Given the description of an element on the screen output the (x, y) to click on. 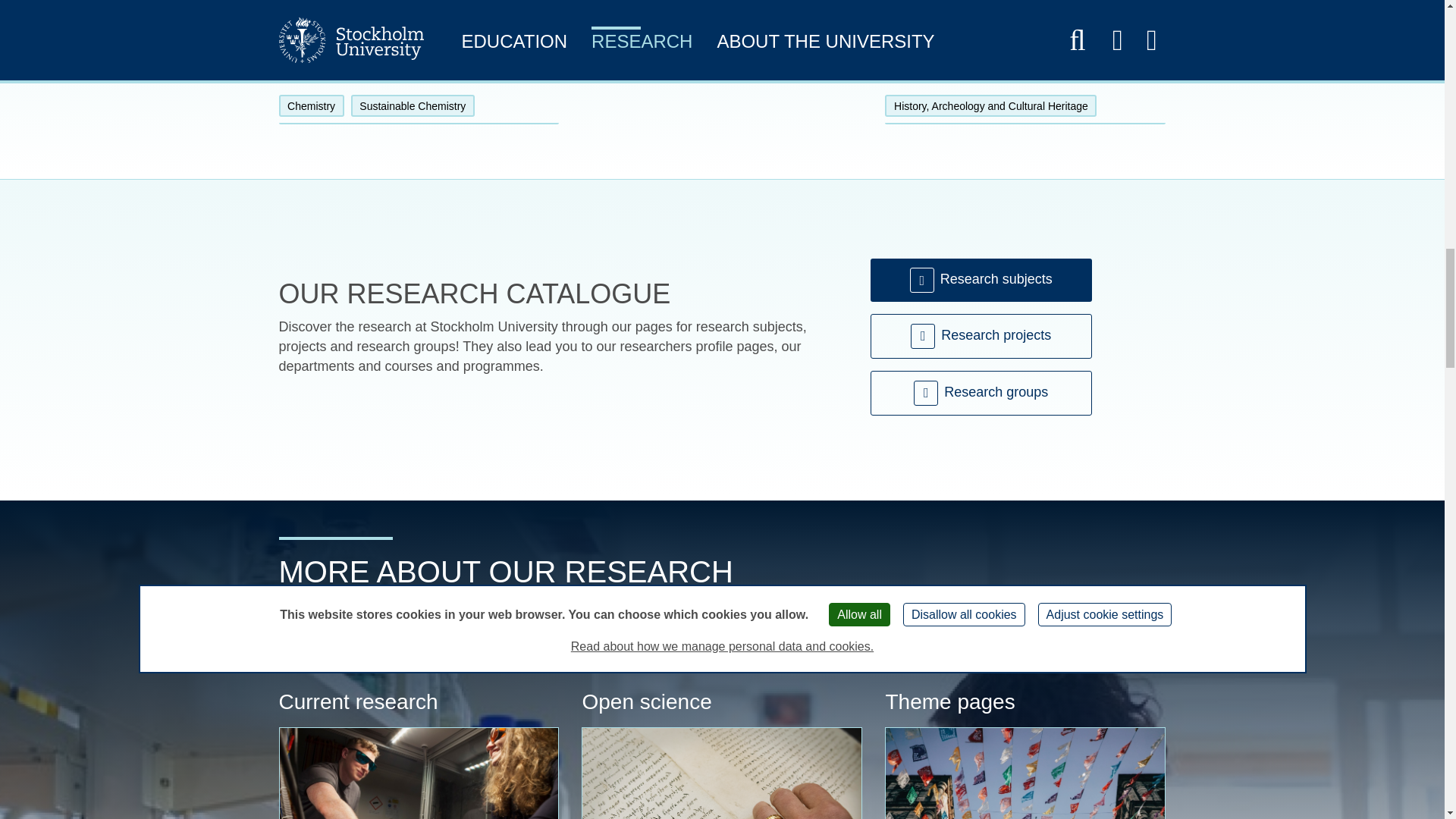
Jens Lasthein (418, 773)
